Given the description of an element on the screen output the (x, y) to click on. 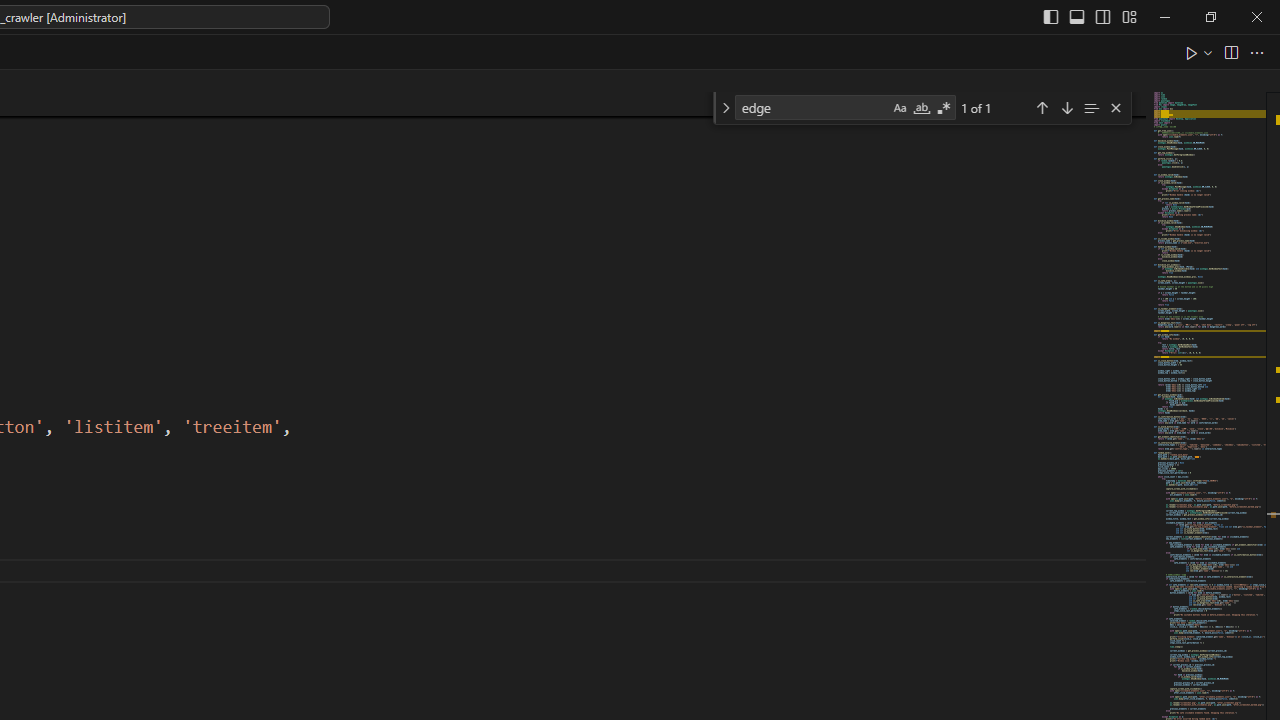
Run or Debug... (1208, 52)
Editor actions (1226, 52)
Match Whole Word (Alt+W) (921, 107)
Close (Escape) (1115, 107)
Next Match (Enter) (1066, 106)
Use Regular Expression (Alt+R) (943, 107)
More Actions... (1256, 52)
Split Editor Right (Ctrl+\) [Alt] Split Editor Down (1230, 52)
Run Python File (1192, 52)
Find (812, 106)
Toggle Primary Side Bar (Ctrl+B) (1050, 16)
Title actions (1089, 16)
